Given the description of an element on the screen output the (x, y) to click on. 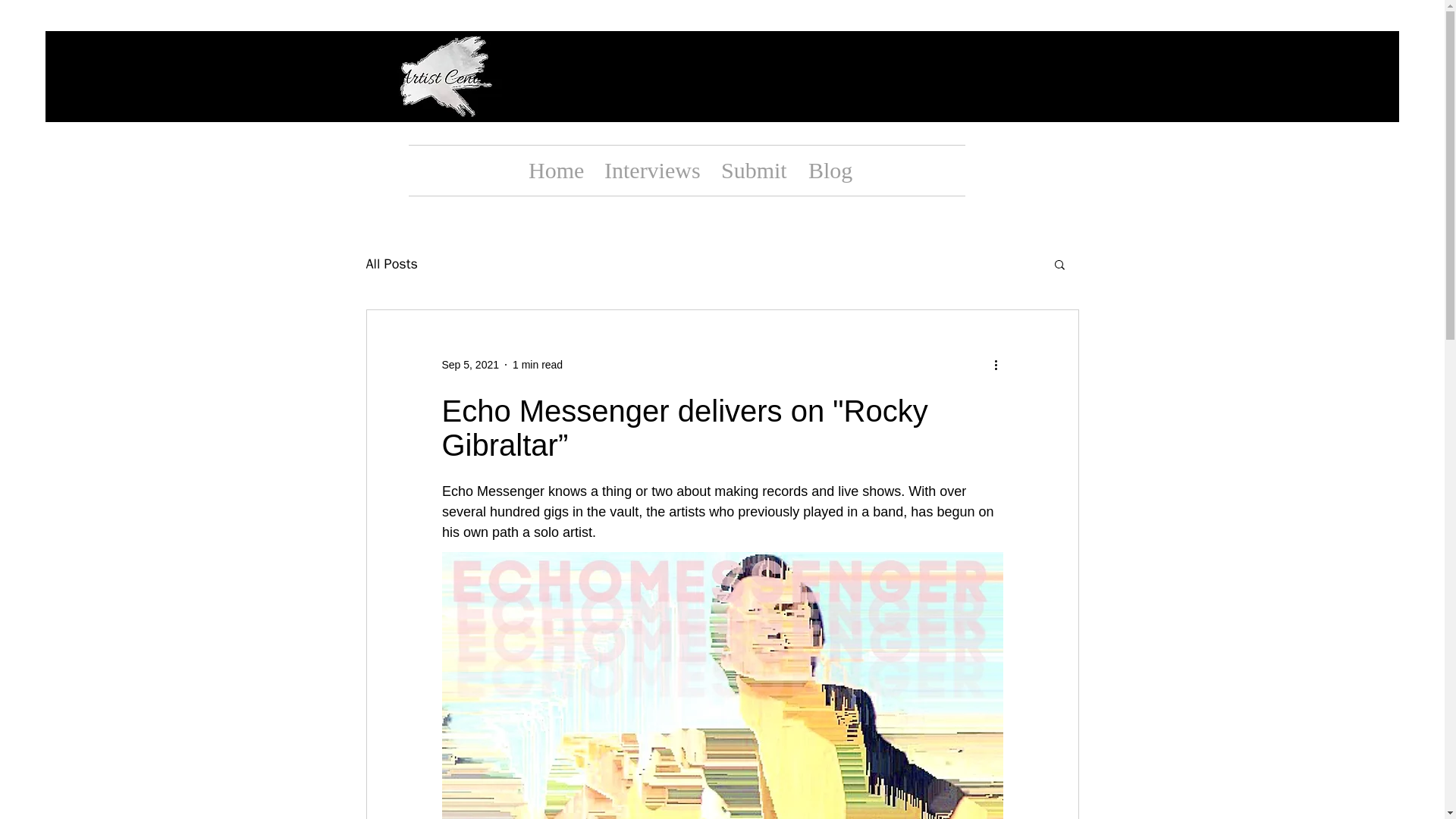
Interviews (651, 170)
Blog (826, 170)
1 min read (537, 363)
Home (554, 170)
Submit (753, 170)
Sep 5, 2021 (470, 363)
All Posts (390, 263)
